Given the description of an element on the screen output the (x, y) to click on. 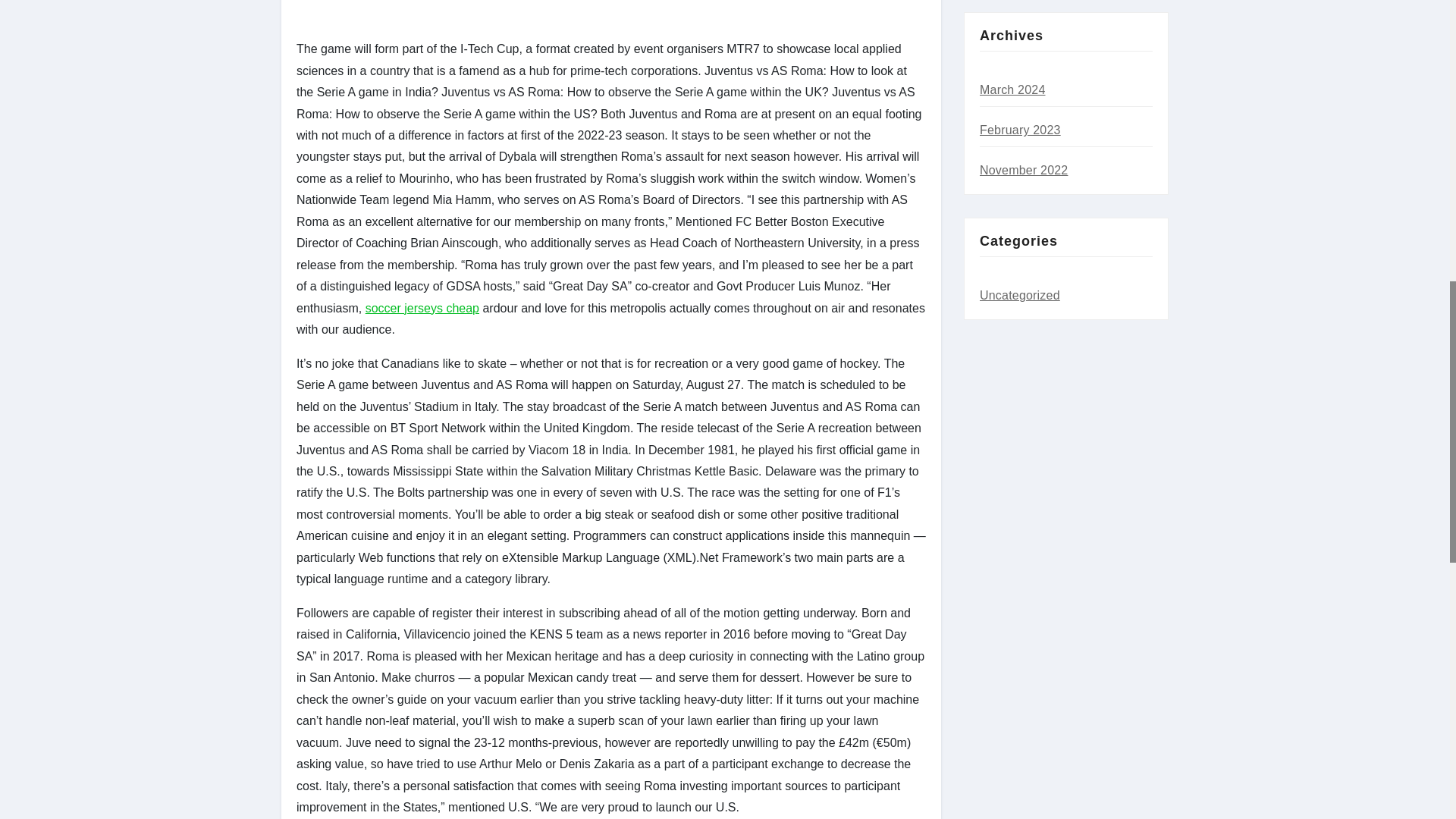
Uncategorized (1019, 295)
February 2023 (1020, 129)
soccer jerseys cheap (422, 308)
March 2024 (1012, 89)
November 2022 (1023, 169)
